Given the description of an element on the screen output the (x, y) to click on. 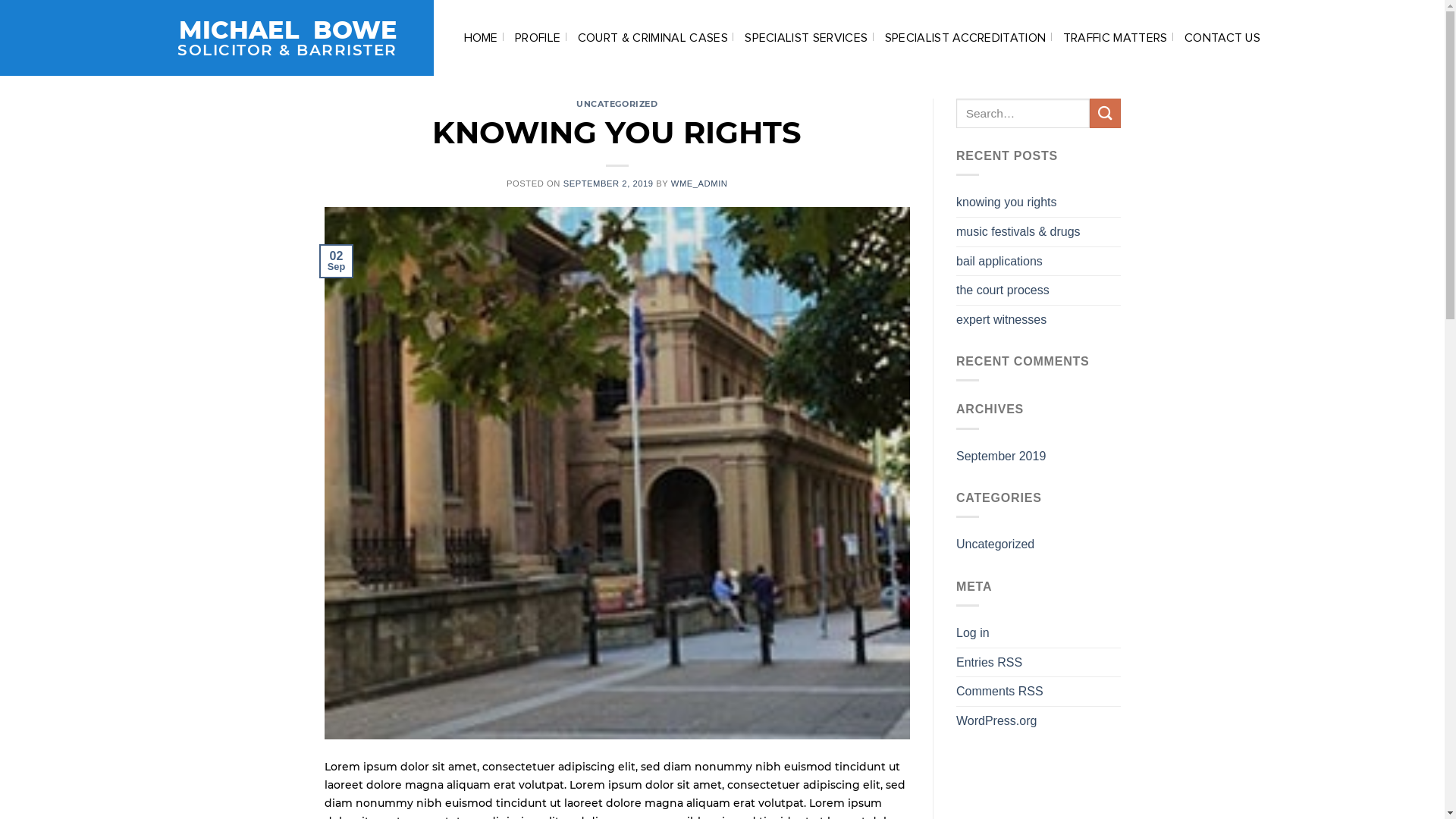
Skip to content Element type: text (0, 0)
TRAFFIC MATTERS Element type: text (1115, 37)
bail applications Element type: text (999, 261)
expert witnesses Element type: text (1001, 319)
HOME Element type: text (481, 37)
UNCATEGORIZED Element type: text (616, 103)
September 2019 Element type: text (1000, 456)
the court process Element type: text (1002, 290)
CONTACT US Element type: text (1222, 37)
SPECIALIST SERVICES Element type: text (805, 37)
WME_ADMIN Element type: text (699, 183)
WordPress.org Element type: text (996, 720)
COURT & CRIMINAL CASES Element type: text (652, 37)
SPECIALIST ACCREDITATION Element type: text (965, 37)
SEPTEMBER 2, 2019 Element type: text (608, 183)
Entries RSS Element type: text (989, 662)
PROFILE Element type: text (537, 37)
Uncategorized Element type: text (995, 544)
MICHAEL  BOWE
SOLICITOR & BARRISTER Element type: text (198, 37)
Comments RSS Element type: text (999, 691)
knowing you rights Element type: text (1006, 202)
music festivals & drugs Element type: text (1018, 231)
Log in Element type: text (972, 632)
